Given the description of an element on the screen output the (x, y) to click on. 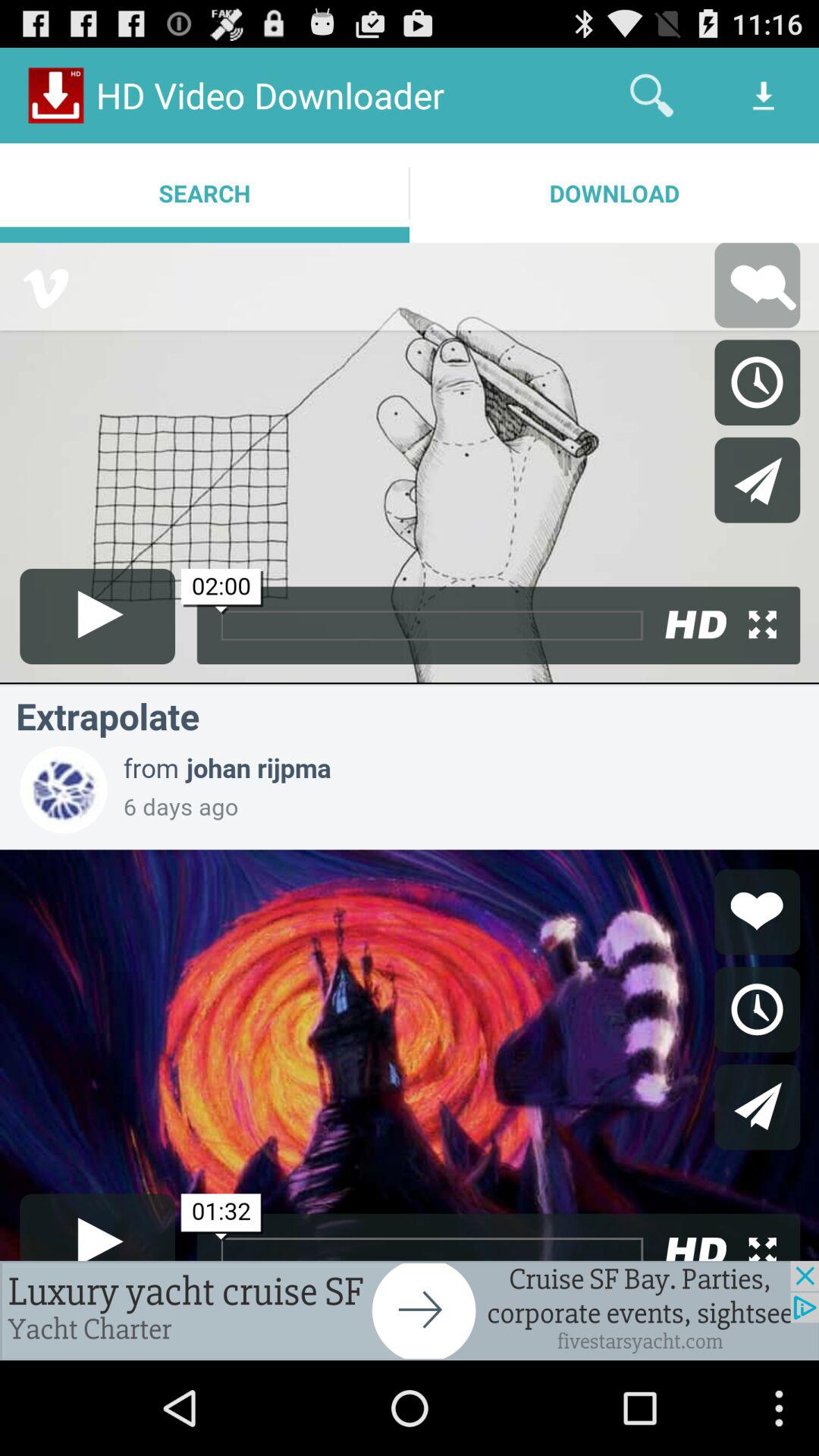
launch item above the download app (651, 95)
